Given the description of an element on the screen output the (x, y) to click on. 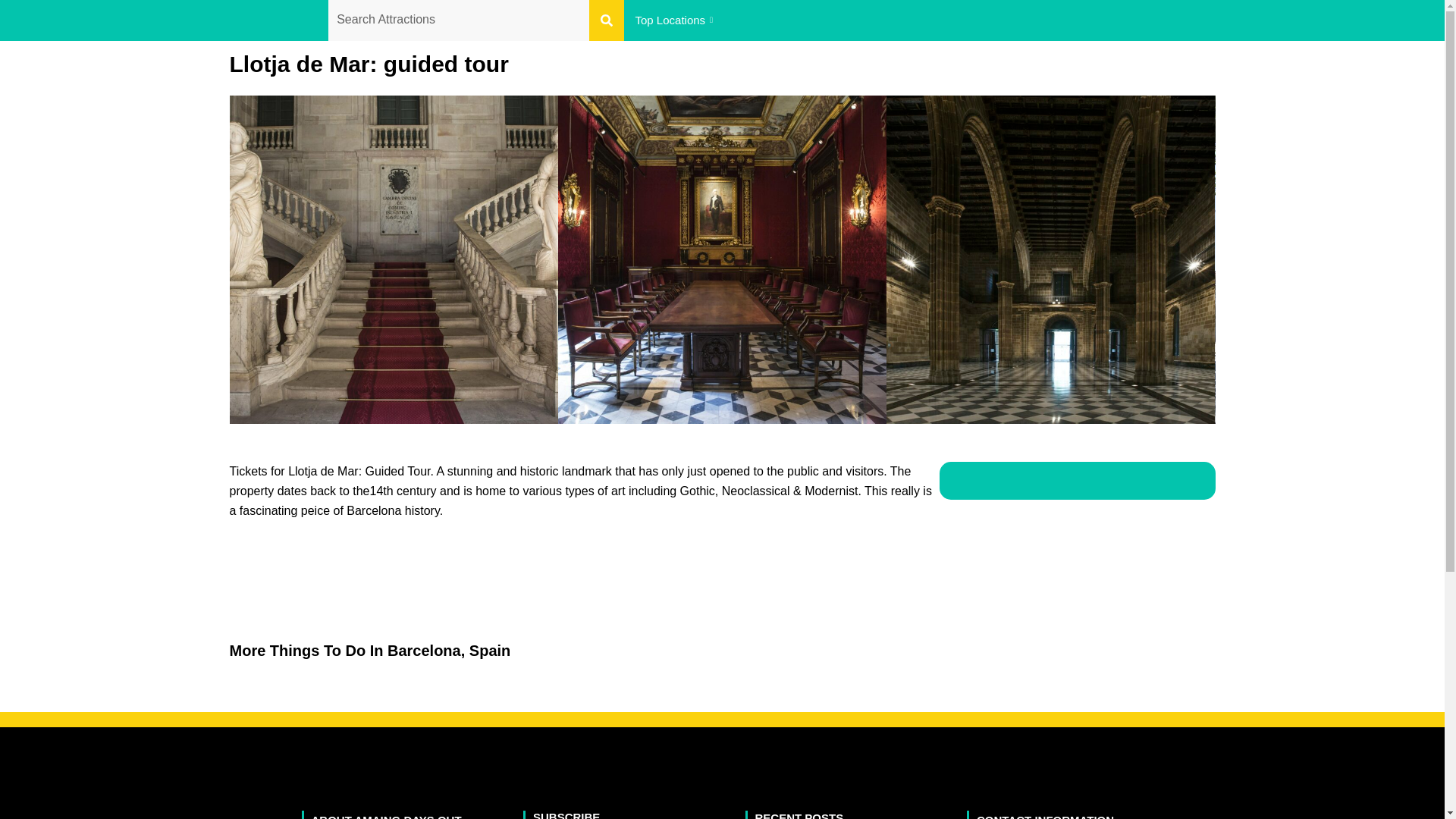
Top Locations (675, 20)
Search (458, 20)
